Given the description of an element on the screen output the (x, y) to click on. 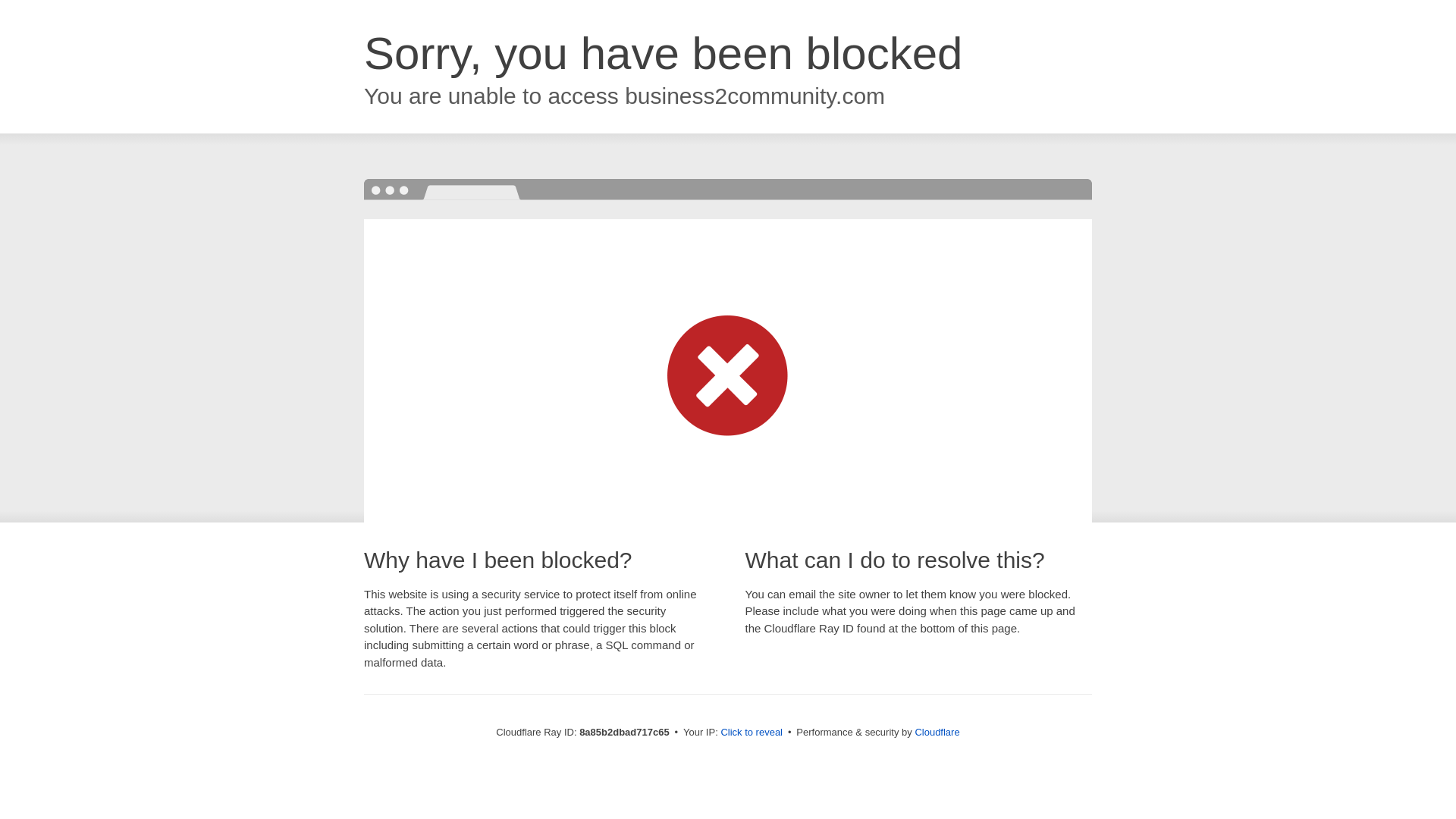
Cloudflare (936, 731)
Click to reveal (751, 732)
